Given the description of an element on the screen output the (x, y) to click on. 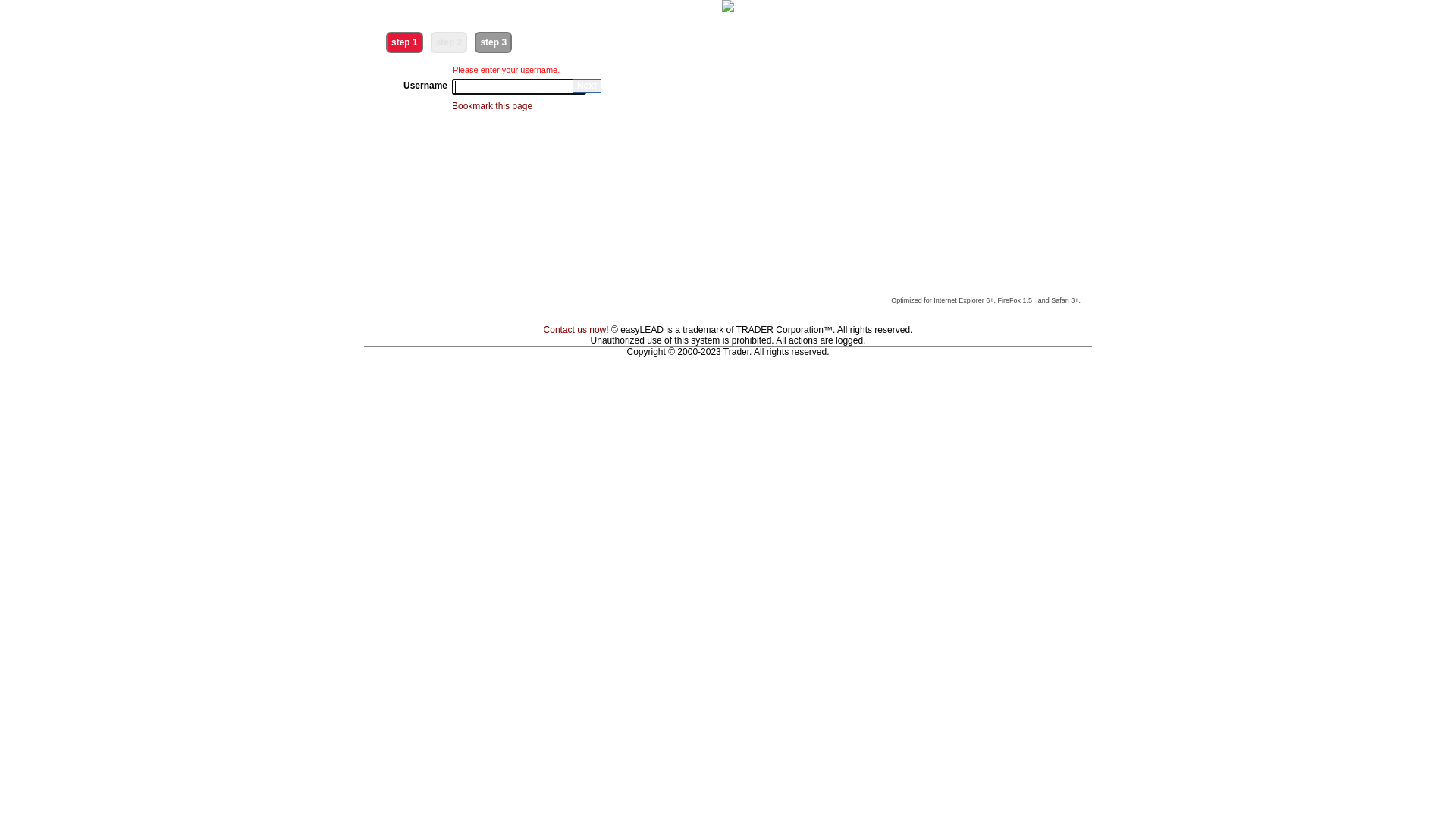
Bookmark this page Element type: text (491, 105)
Contact us now! Element type: text (575, 329)
Next Element type: text (586, 85)
